Given the description of an element on the screen output the (x, y) to click on. 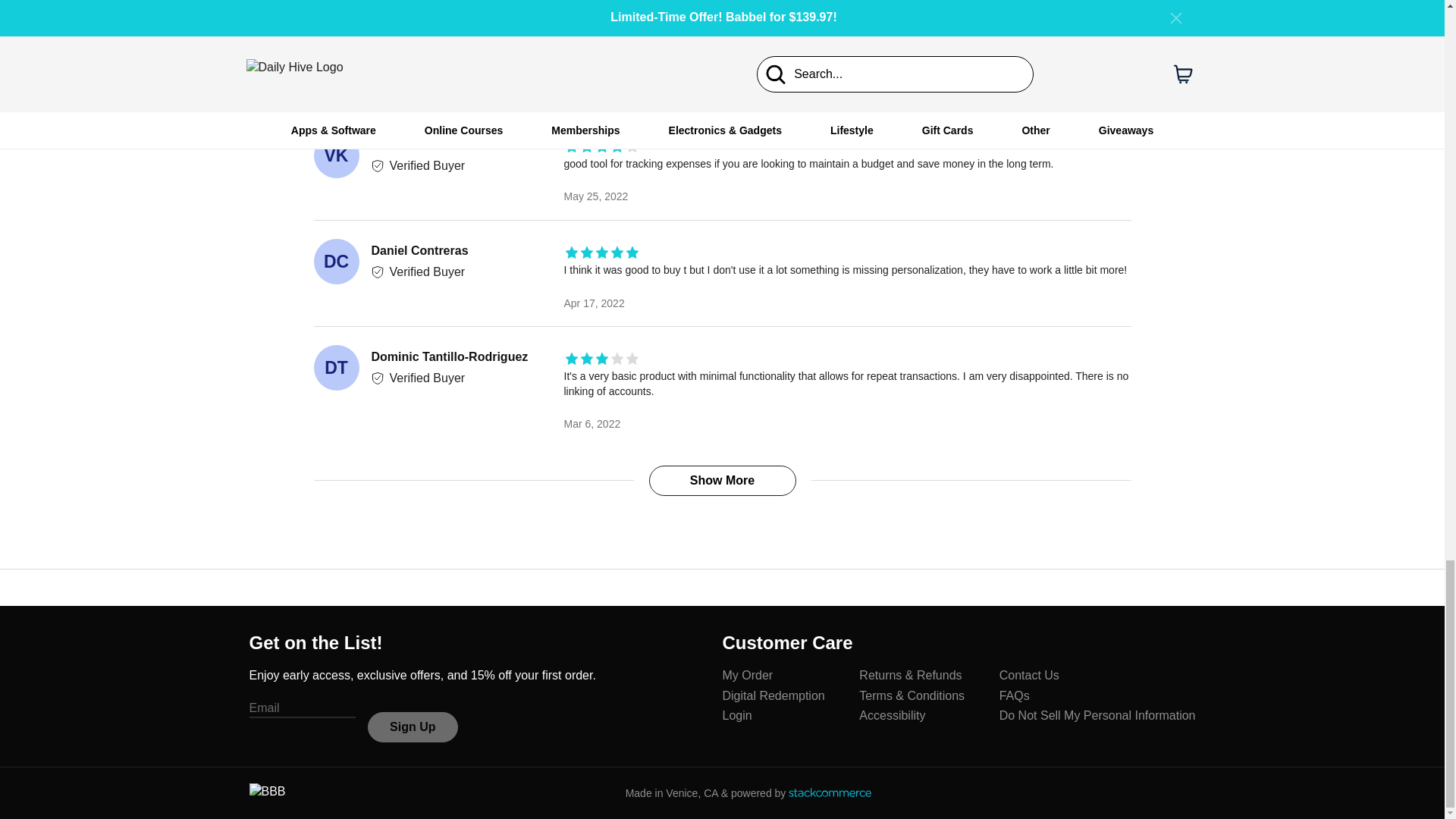
StackCommerce (829, 792)
